Given the description of an element on the screen output the (x, y) to click on. 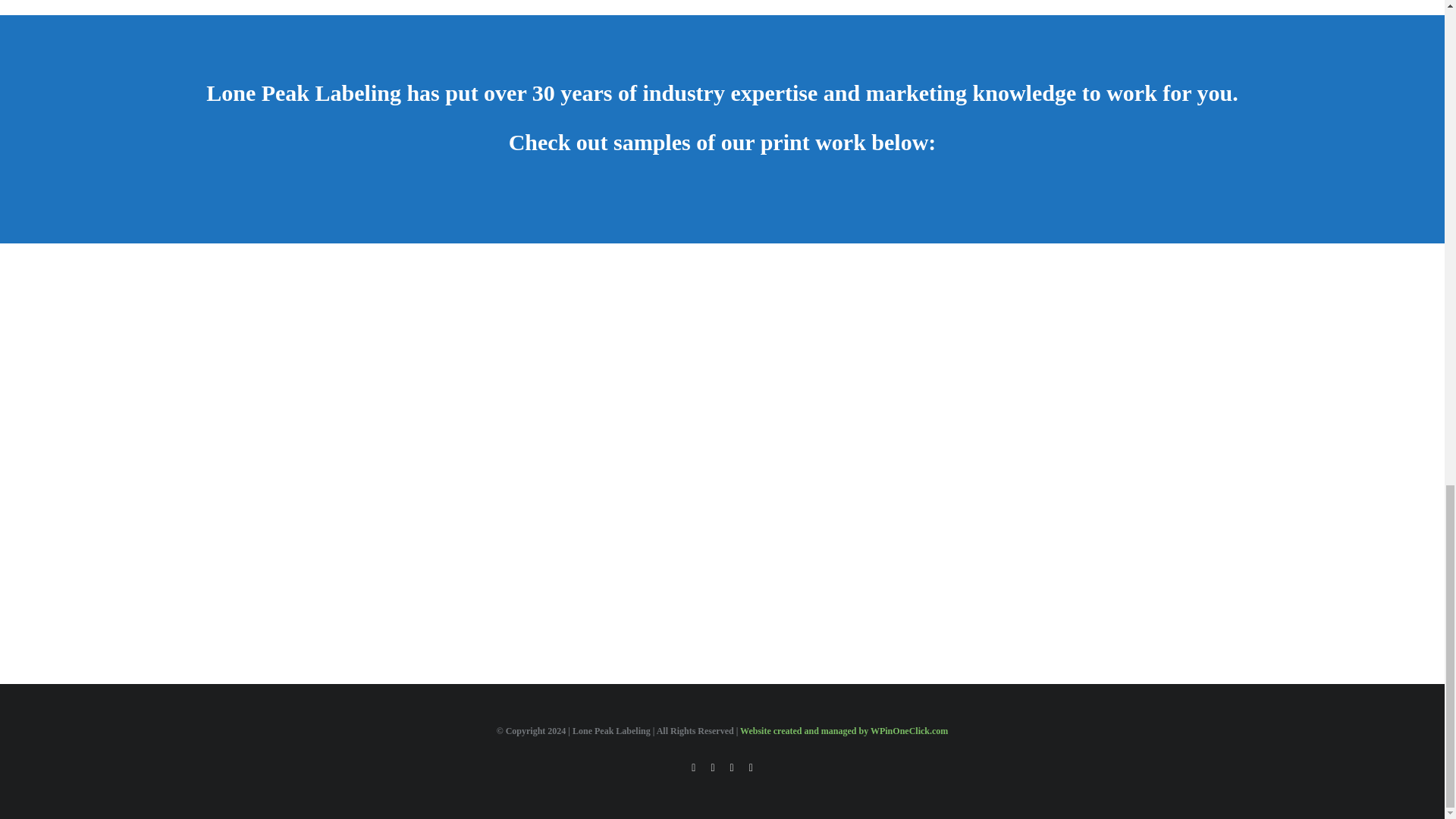
product-placeholder (1058, 564)
product-placeholder (384, 362)
product-placeholder (834, 362)
product-placeholder (384, 564)
product-placeholder (609, 564)
product-placeholder (609, 362)
product-placeholder (1058, 362)
WordPress in One Click (843, 730)
product-placeholder (834, 564)
